Given the description of an element on the screen output the (x, y) to click on. 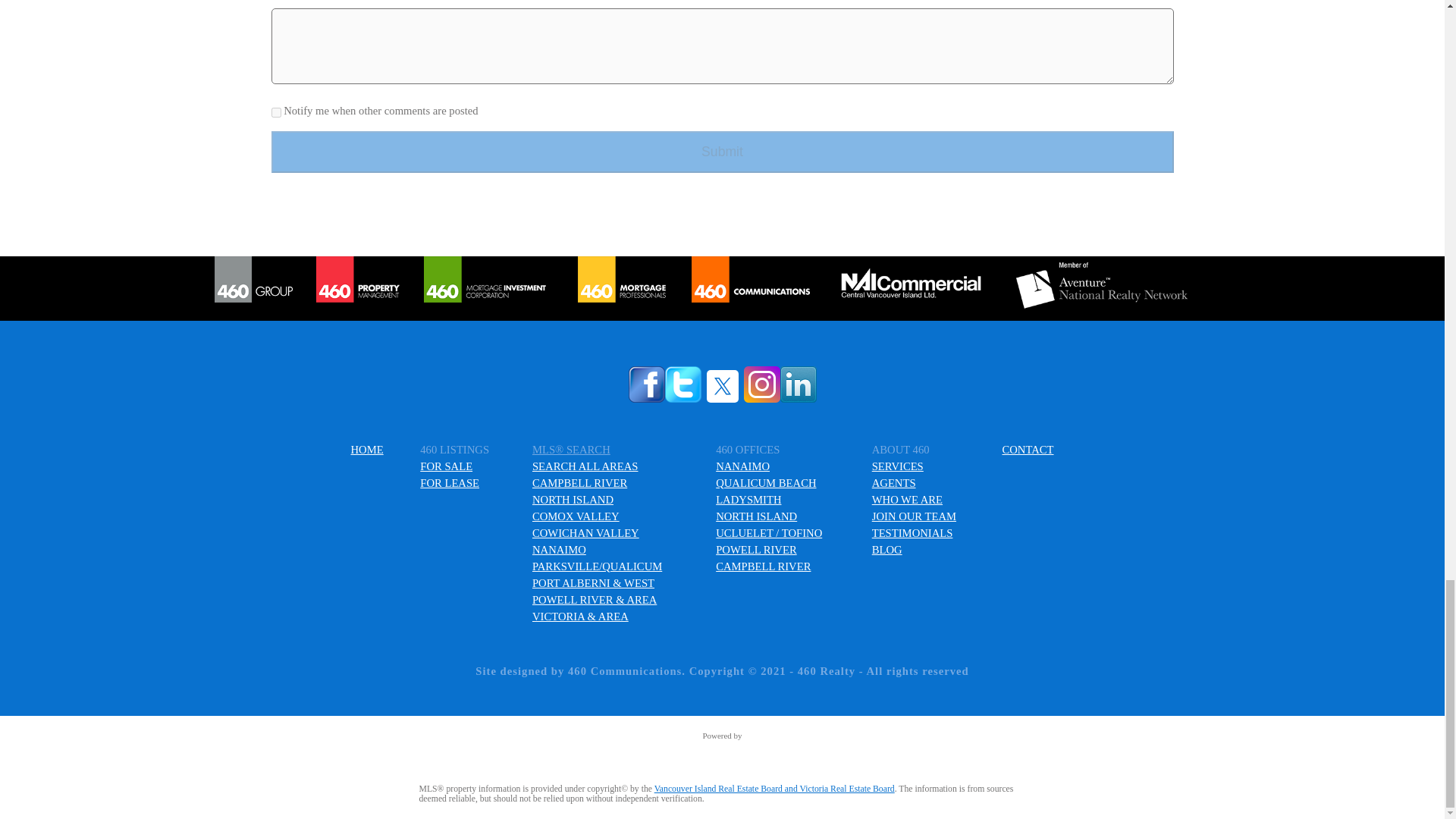
Notify me when other comments are posted (275, 112)
